Given the description of an element on the screen output the (x, y) to click on. 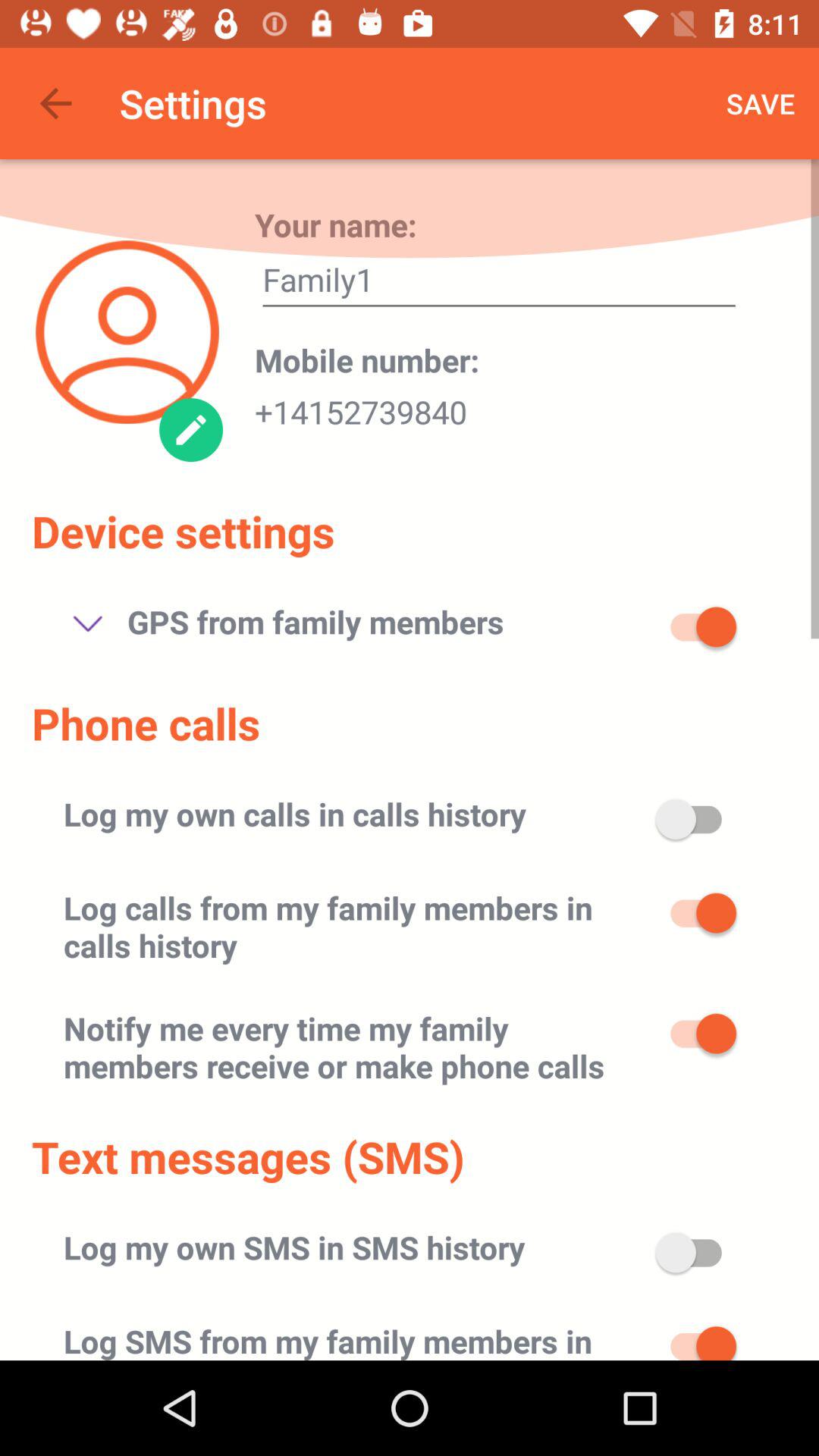
open the icon at the top right corner (760, 103)
